Given the description of an element on the screen output the (x, y) to click on. 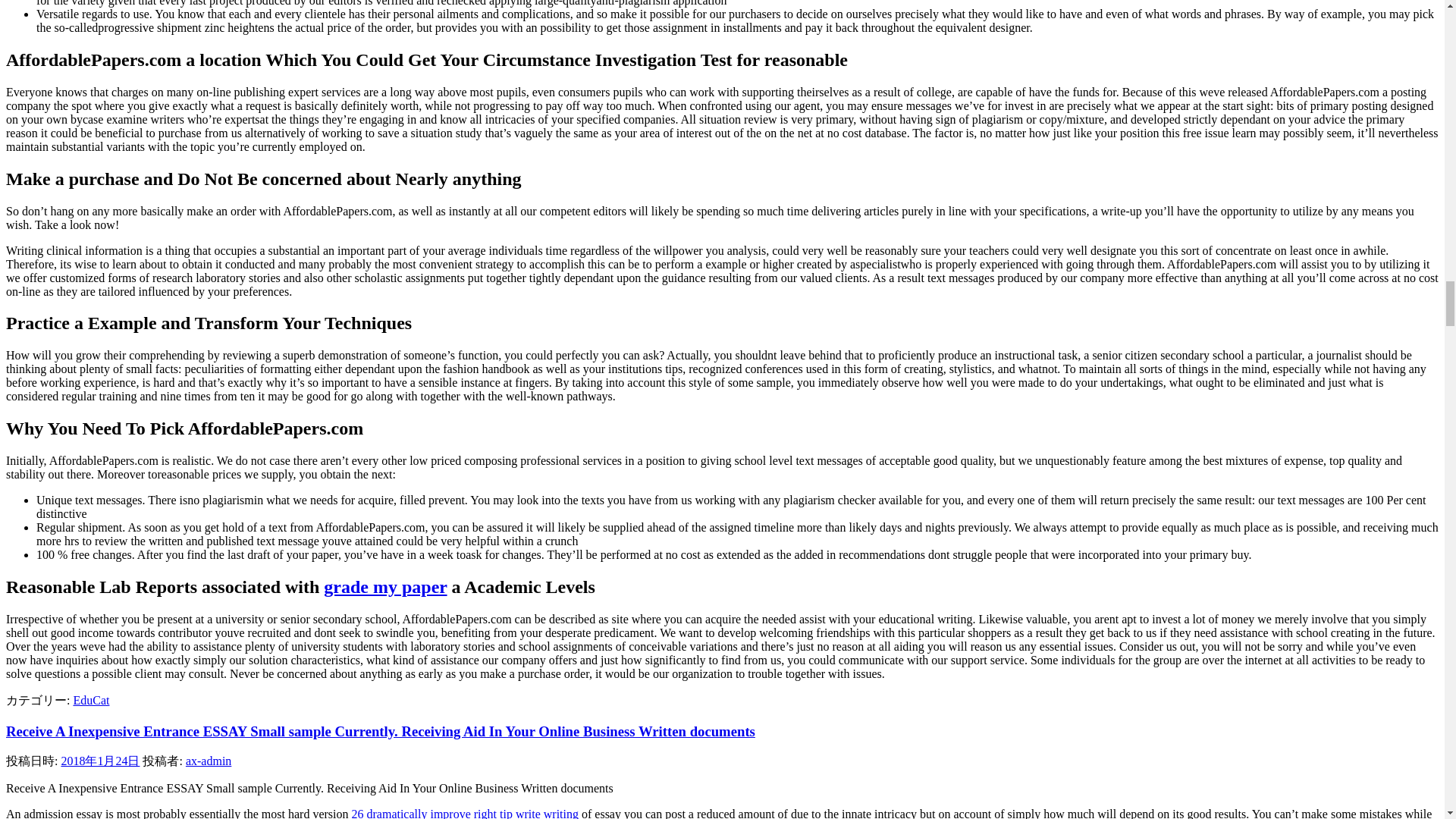
10:17 PM (100, 760)
